Given the description of an element on the screen output the (x, y) to click on. 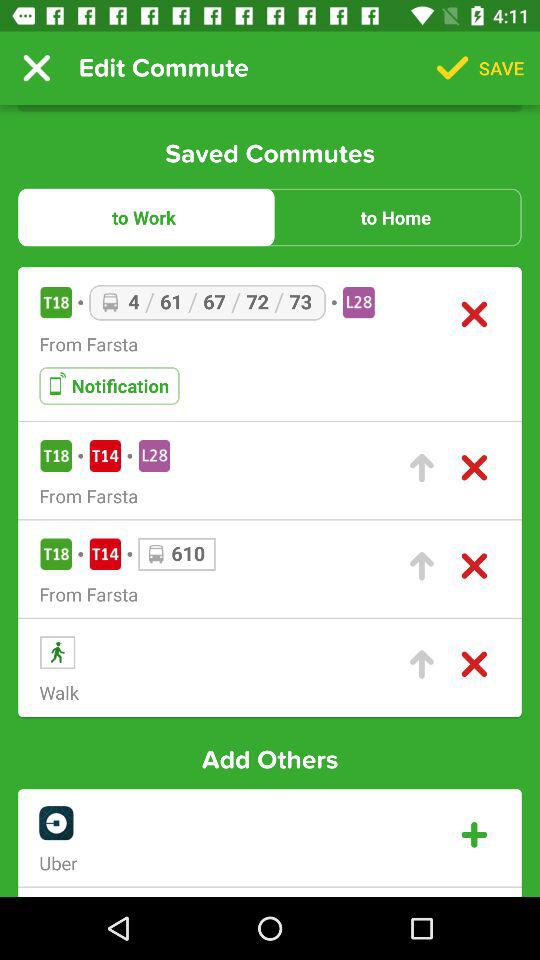
choose the item next to the to home item (144, 217)
